Given the description of an element on the screen output the (x, y) to click on. 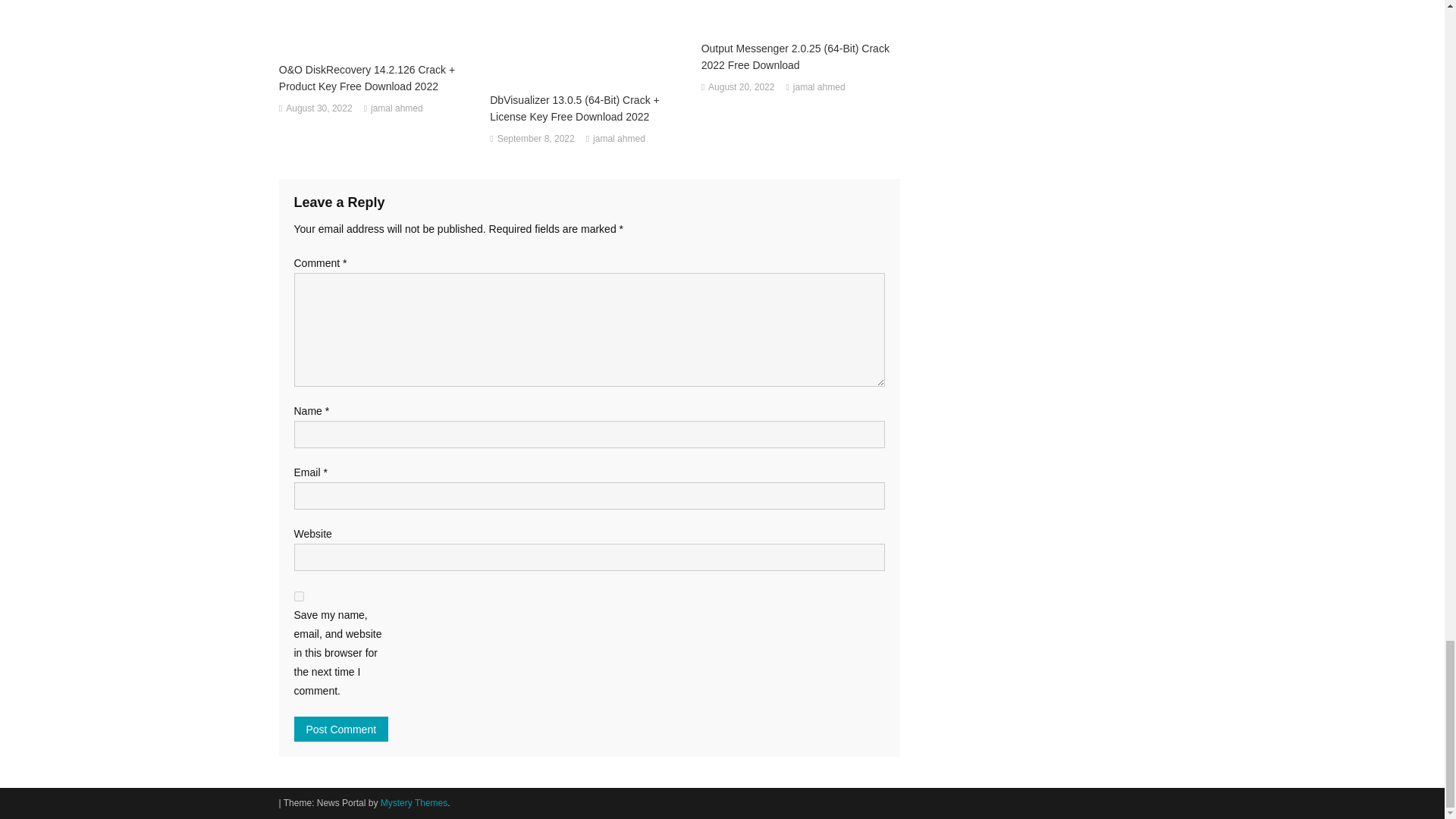
yes (299, 596)
Post Comment (341, 729)
